Given the description of an element on the screen output the (x, y) to click on. 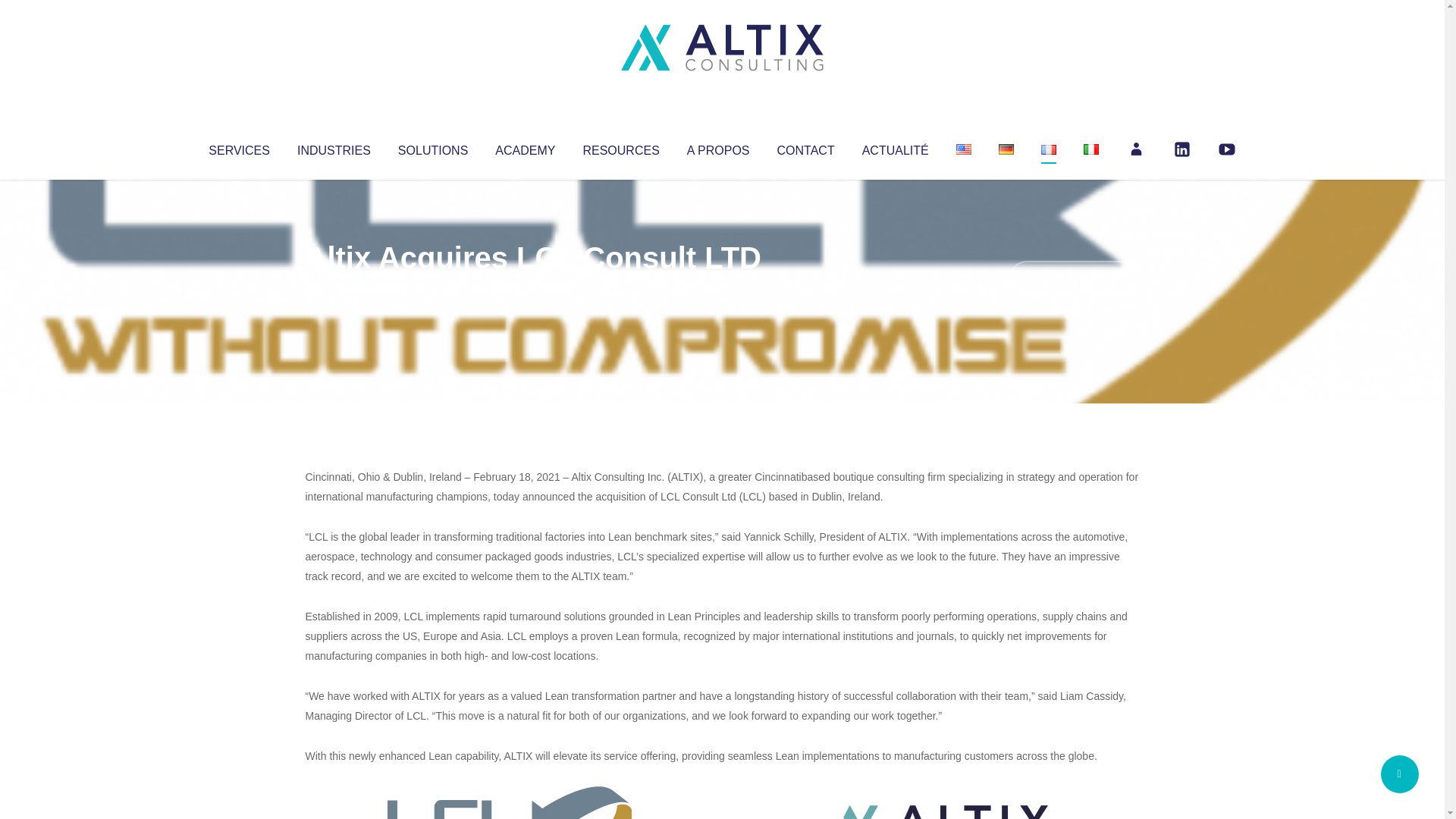
Altix (333, 287)
A PROPOS (718, 146)
No Comments (1073, 278)
INDUSTRIES (334, 146)
RESOURCES (620, 146)
Articles par Altix (333, 287)
SERVICES (238, 146)
Uncategorized (530, 287)
ACADEMY (524, 146)
SOLUTIONS (432, 146)
